Given the description of an element on the screen output the (x, y) to click on. 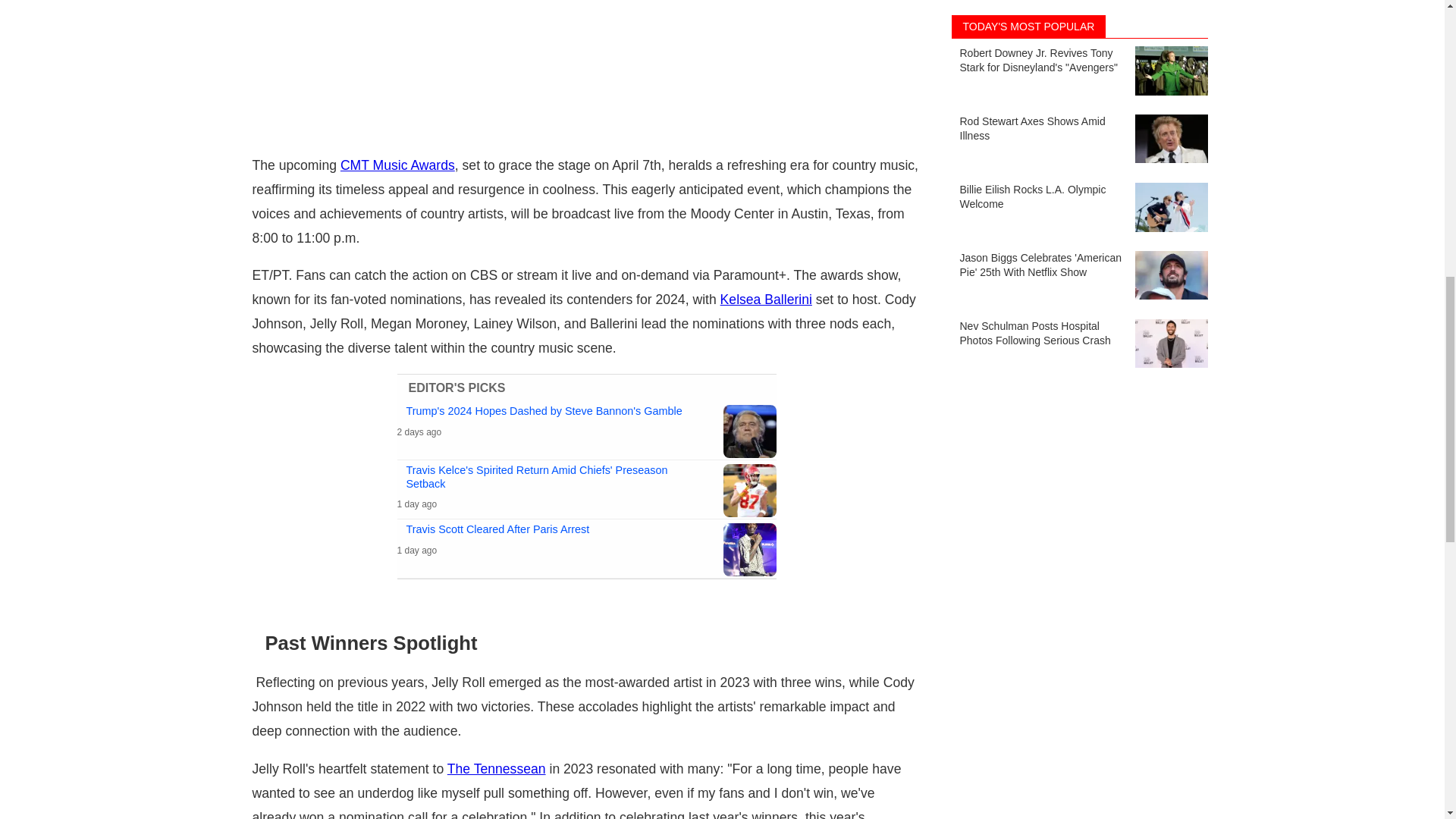
Kelsea Ballerini (766, 299)
The Tennessean (496, 768)
CMT Music Awards (397, 165)
